Given the description of an element on the screen output the (x, y) to click on. 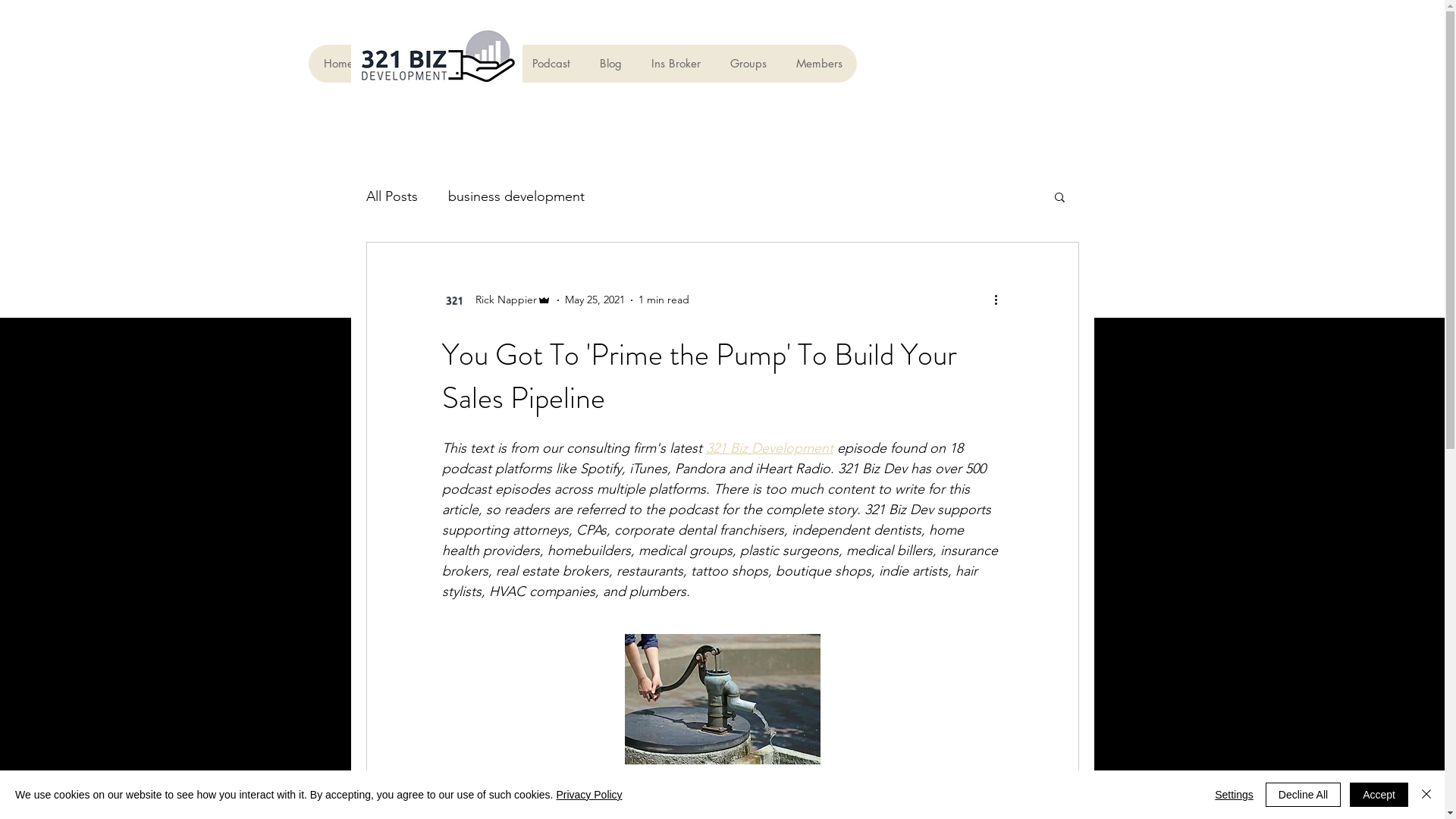
Blog Element type: text (610, 63)
business development Element type: text (515, 196)
Accept Element type: text (1378, 794)
Ins Broker Element type: text (675, 63)
Privacy Policy Element type: text (588, 794)
About Element type: text (397, 63)
Members Element type: text (818, 63)
All Posts Element type: text (391, 196)
Rick Nappier Element type: text (495, 300)
Home Element type: text (337, 63)
Podcast Element type: text (550, 63)
321 Biz Development Element type: text (768, 447)
Groups Element type: text (748, 63)
Decline All Element type: text (1302, 794)
Networking Element type: text (471, 63)
